Given the description of an element on the screen output the (x, y) to click on. 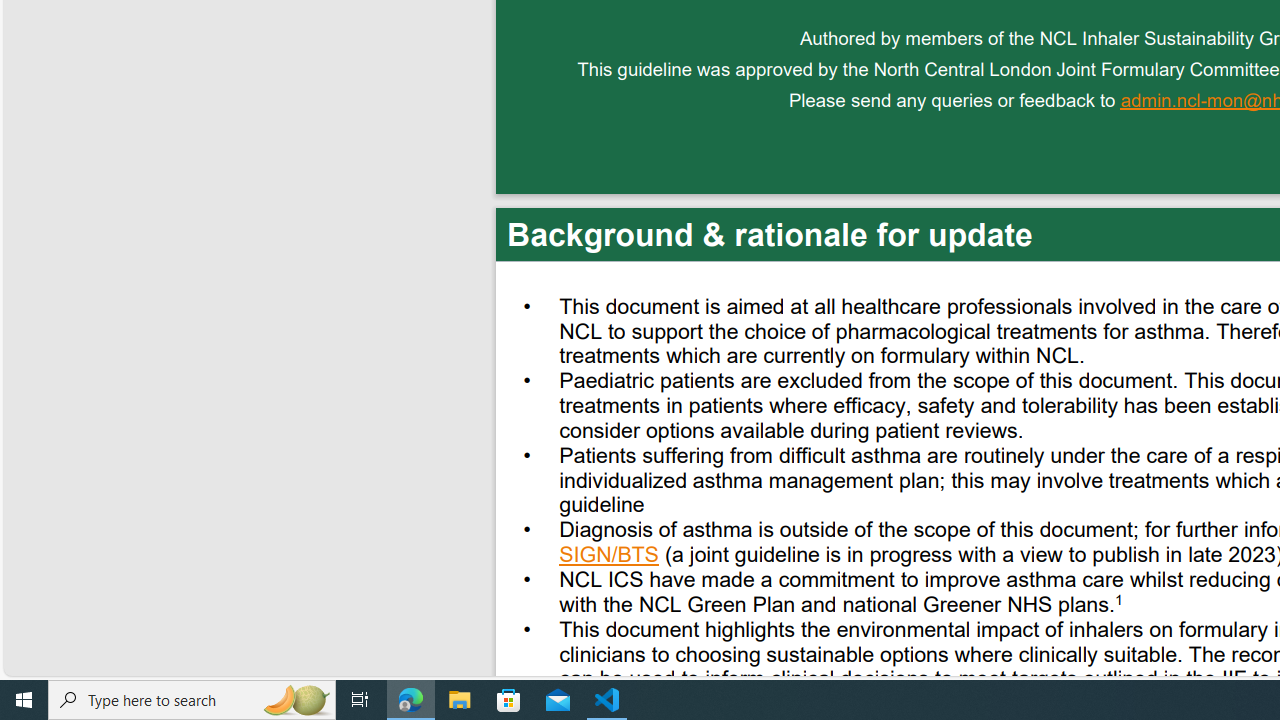
SIGN/BTS (609, 557)
